Given the description of an element on the screen output the (x, y) to click on. 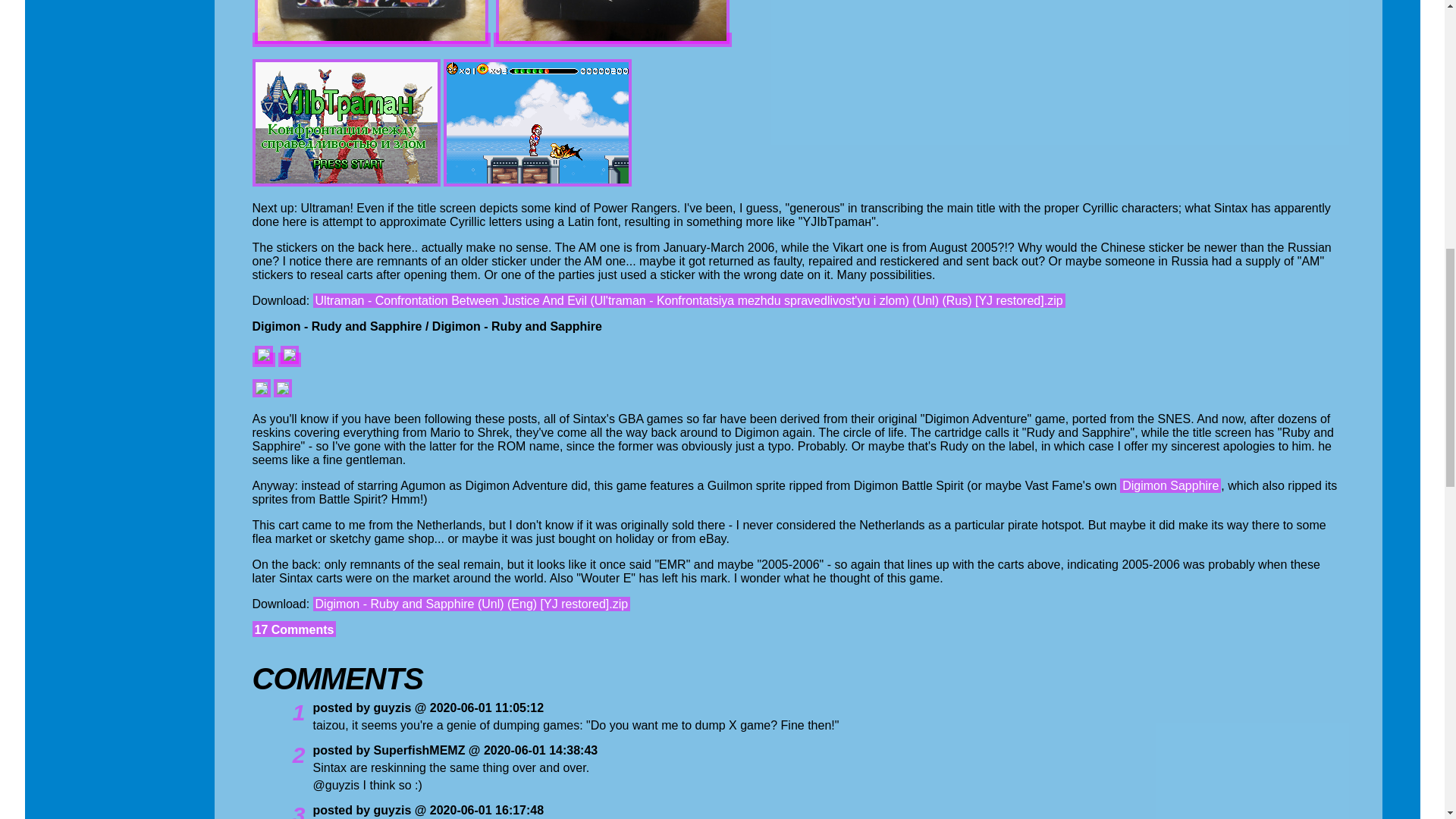
1 (277, 712)
3 (277, 811)
Digimon Sapphire (1170, 485)
17 Comments (293, 629)
2 (277, 754)
